Given the description of an element on the screen output the (x, y) to click on. 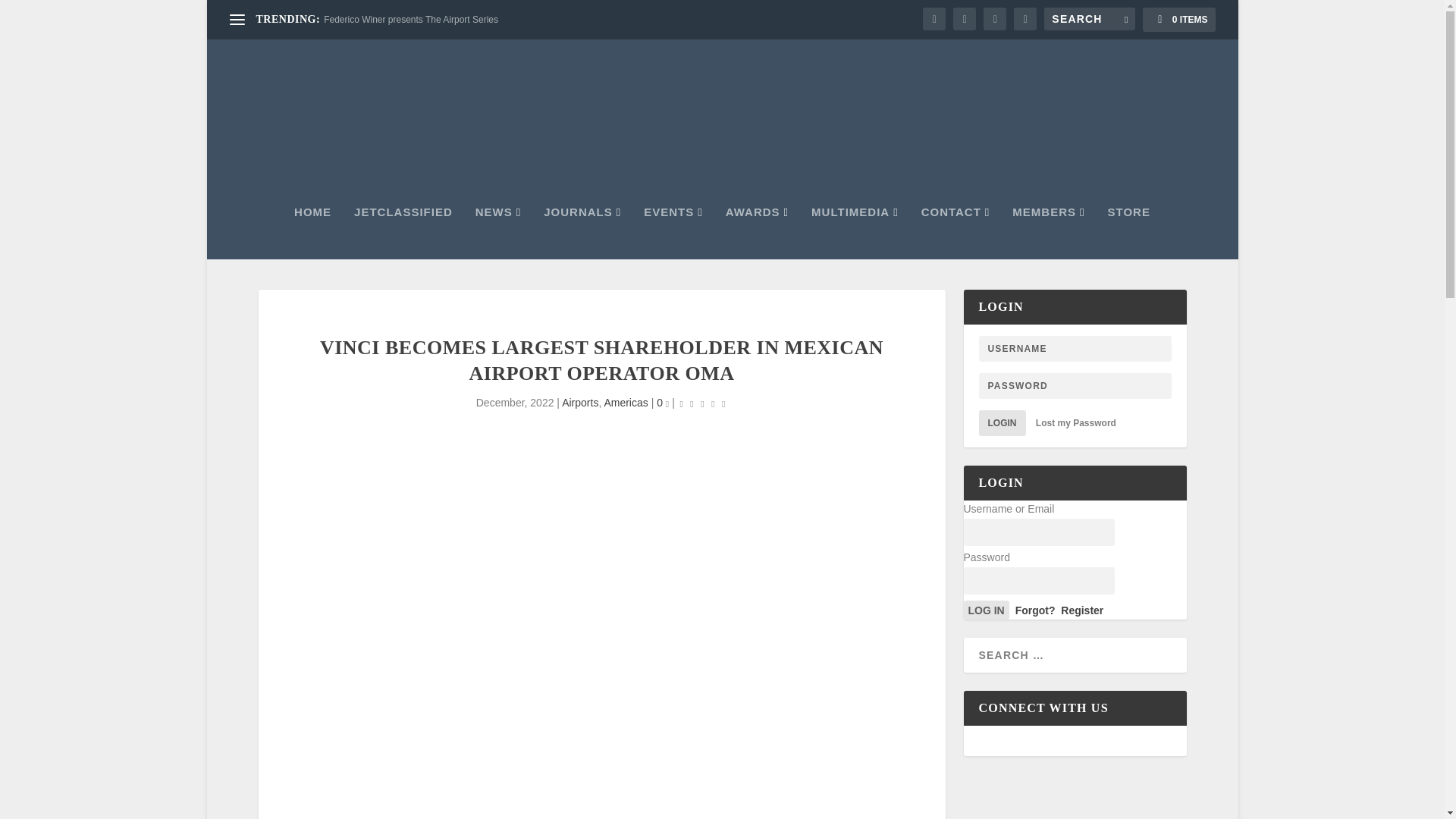
Rating: 0.00 (703, 403)
JETCLASSIFIED (402, 232)
log in (985, 609)
JOURNALS (582, 232)
Federico Winer presents The Airport Series (410, 19)
